Given the description of an element on the screen output the (x, y) to click on. 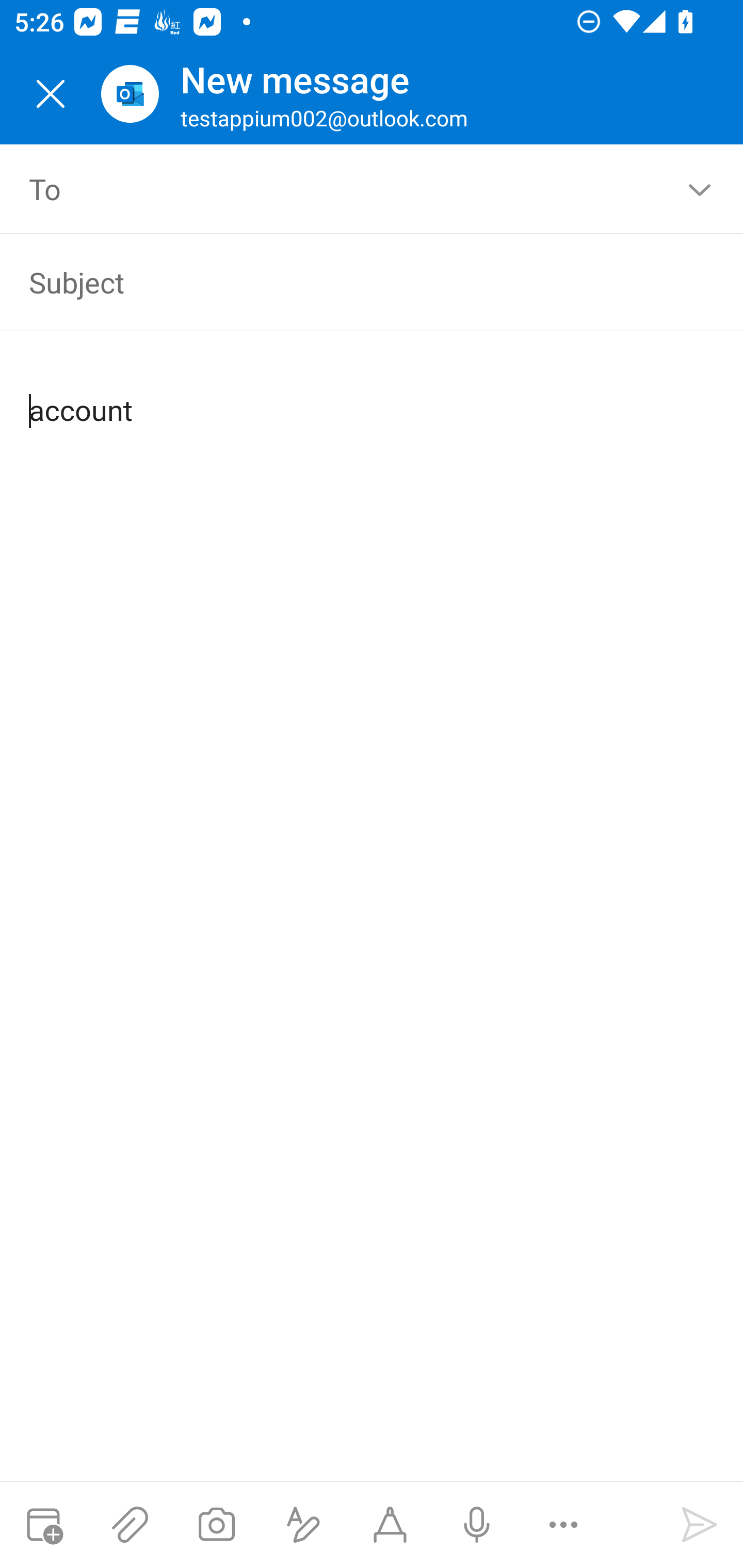
Close (50, 93)
Subject (342, 281)

account (372, 394)
Attach meeting (43, 1524)
Attach files (129, 1524)
Take a photo (216, 1524)
Show formatting options (303, 1524)
Start Ink compose (389, 1524)
Dictation (476, 1524)
More options (563, 1524)
Send (699, 1524)
